Given the description of an element on the screen output the (x, y) to click on. 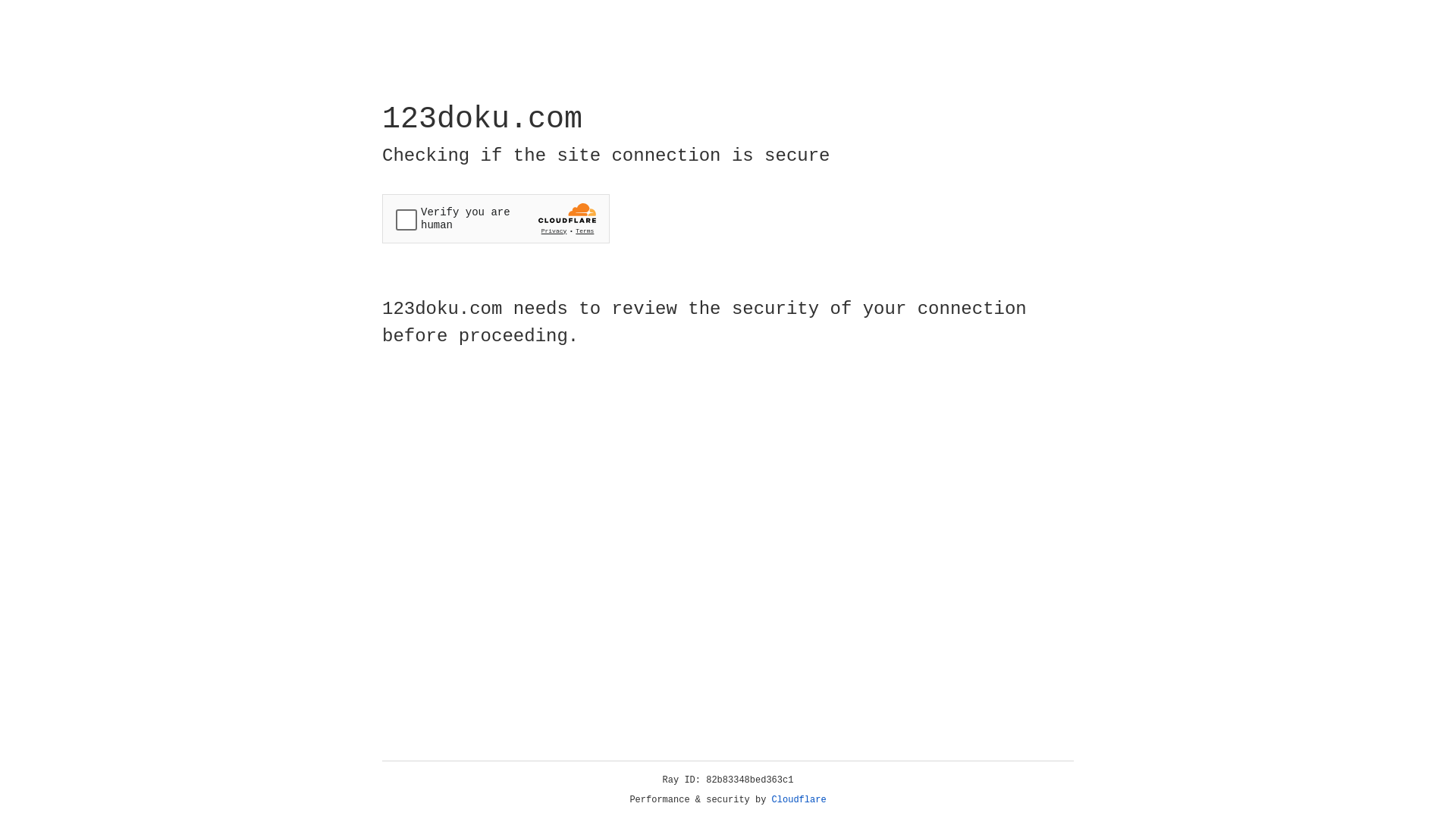
Cloudflare Element type: text (798, 799)
Widget containing a Cloudflare security challenge Element type: hover (495, 218)
